Given the description of an element on the screen output the (x, y) to click on. 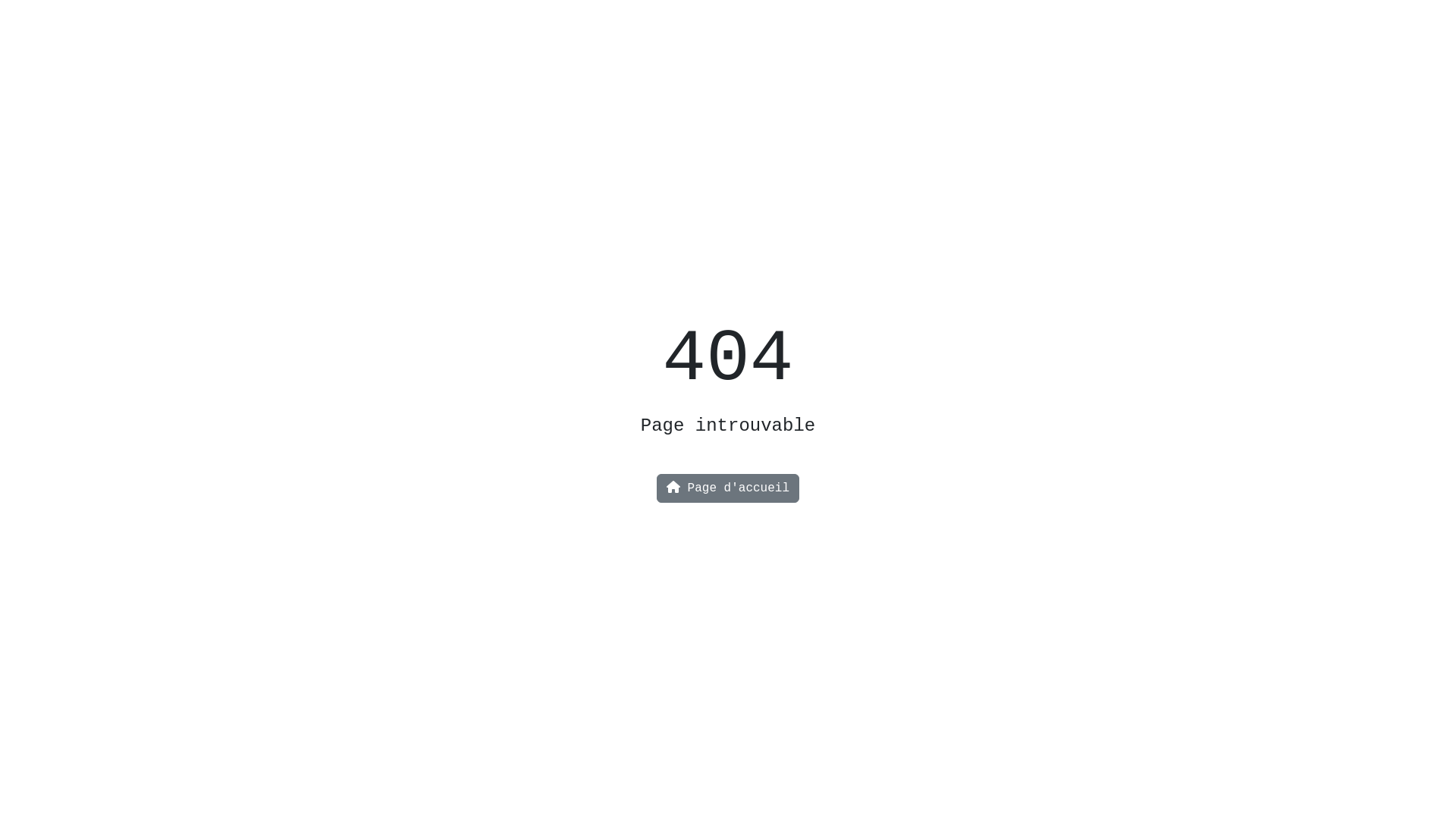
Page d'accueil Element type: text (727, 487)
